Given the description of an element on the screen output the (x, y) to click on. 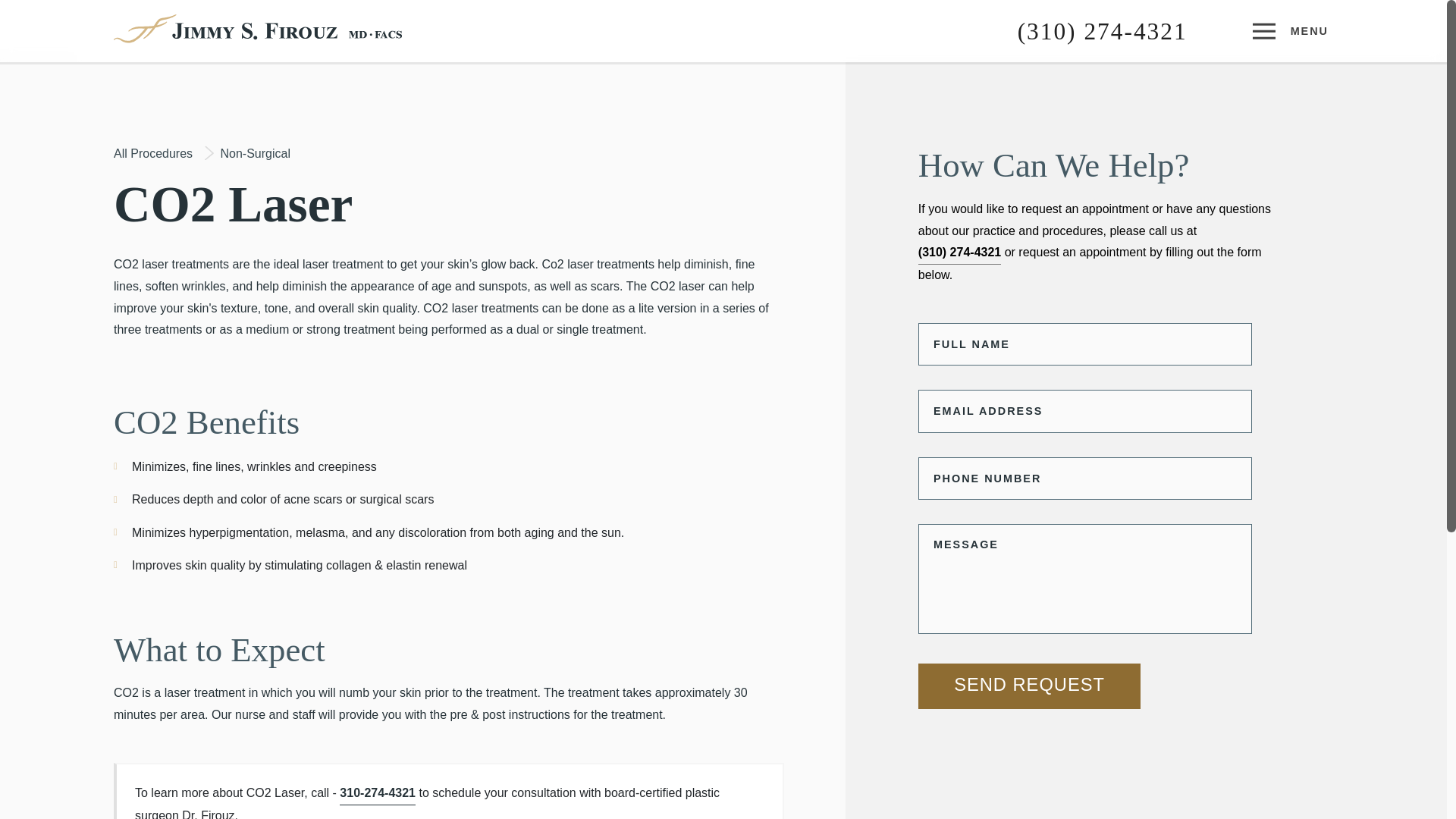
MENU (1292, 31)
All Procedures (152, 153)
Non-Surgical (254, 153)
310-274-4321 (376, 793)
Send Request (1029, 685)
Send Request (1029, 685)
